Given the description of an element on the screen output the (x, y) to click on. 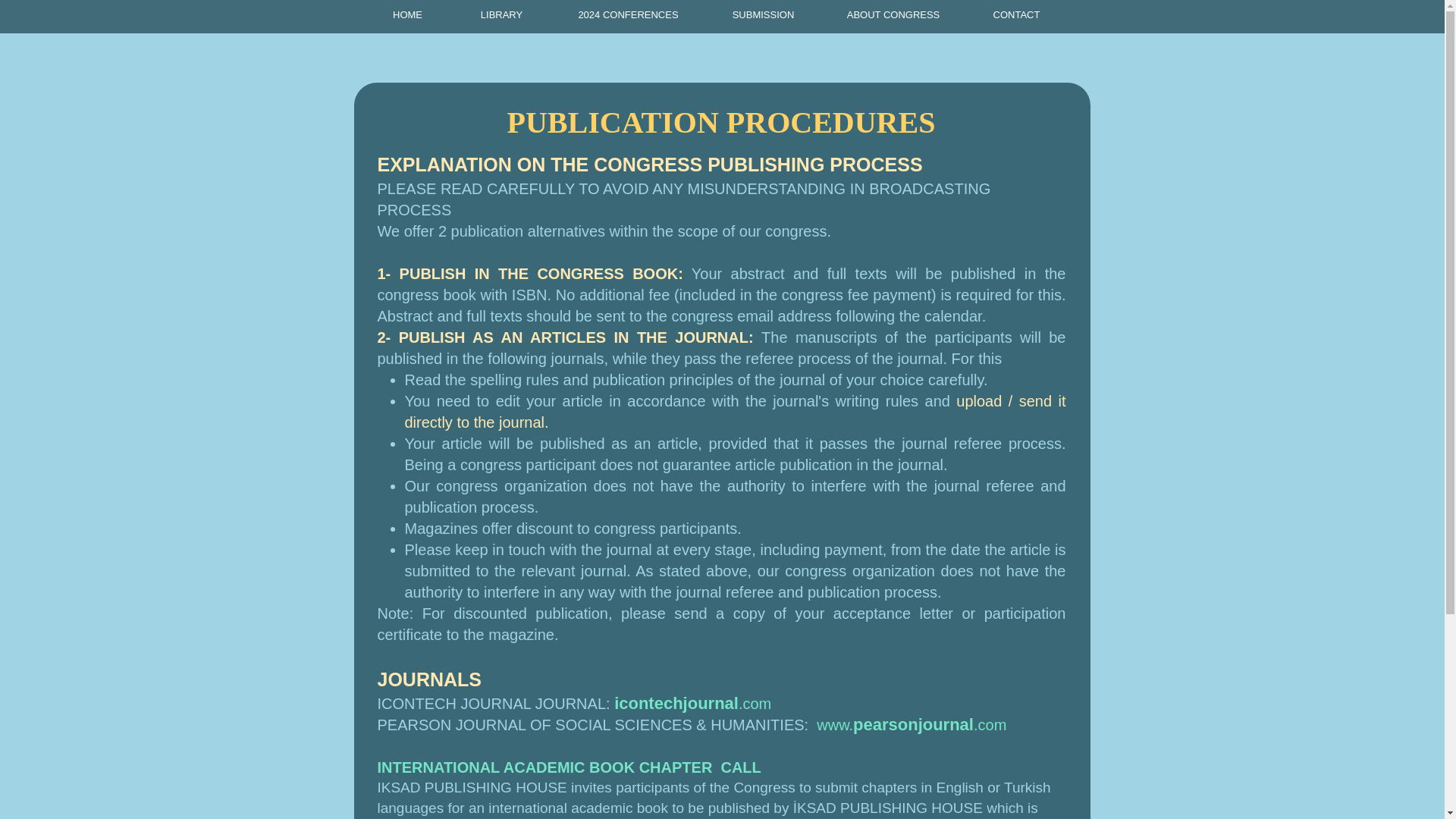
icontechjournal (676, 702)
pearsonjournal (913, 723)
CONTACT (1015, 15)
SUBMISSION (763, 15)
.com (754, 703)
www. (834, 724)
PUBLICATION PROCEDURES (721, 122)
HOME (407, 15)
.com (990, 724)
